Given the description of an element on the screen output the (x, y) to click on. 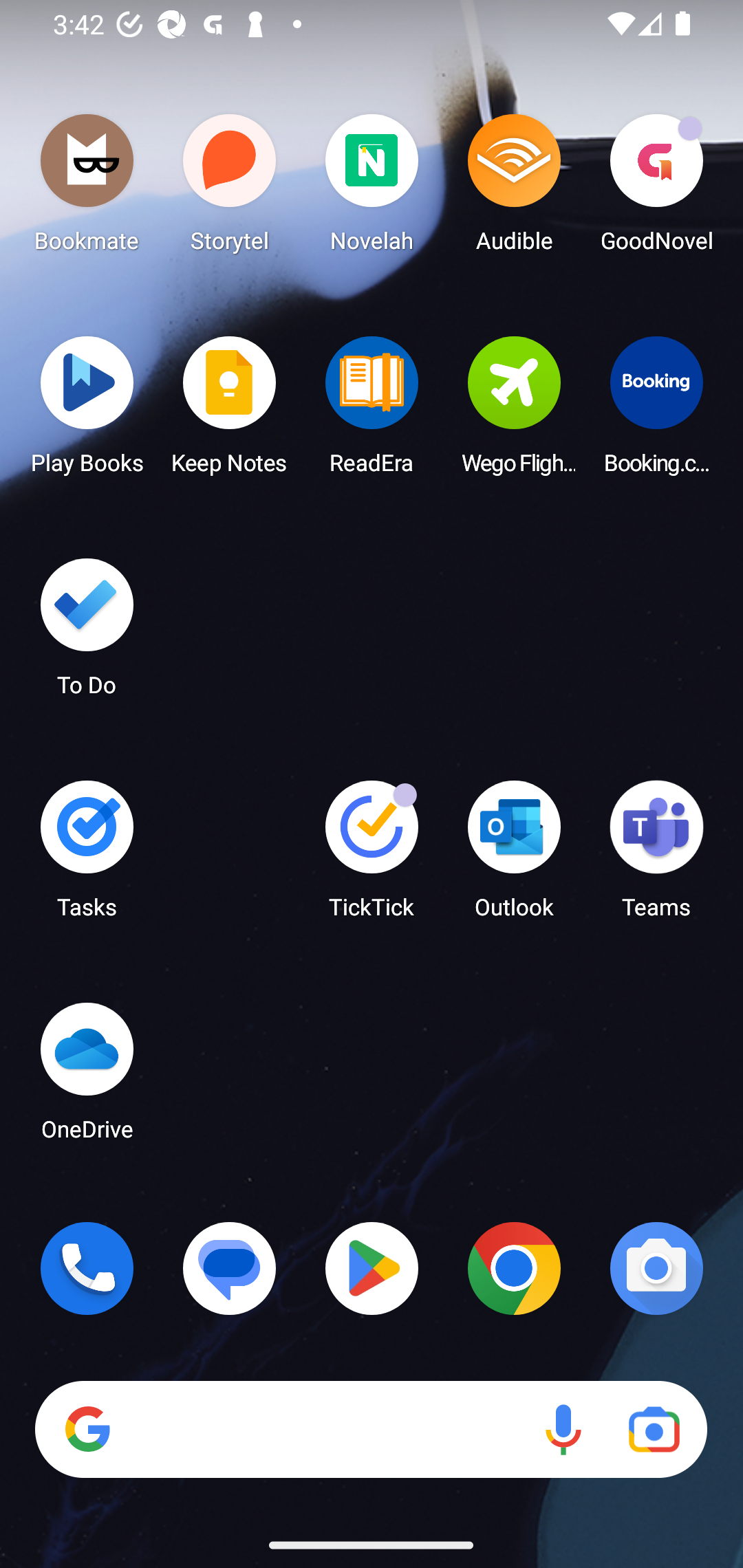
Bookmate (86, 188)
Storytel (229, 188)
Novelah (371, 188)
Audible (513, 188)
GoodNovel GoodNovel has 1 notification (656, 188)
Play Books (86, 410)
Keep Notes (229, 410)
ReadEra (371, 410)
Wego Flights & Hotels (513, 410)
Booking.com (656, 410)
To Do (86, 633)
Tasks (86, 854)
TickTick TickTick has 3 notifications (371, 854)
Outlook (513, 854)
Teams (656, 854)
OneDrive (86, 1076)
Phone (86, 1268)
Messages (229, 1268)
Play Store (371, 1268)
Chrome (513, 1268)
Camera (656, 1268)
Search Voice search Google Lens (370, 1429)
Voice search (562, 1429)
Google Lens (653, 1429)
